Given the description of an element on the screen output the (x, y) to click on. 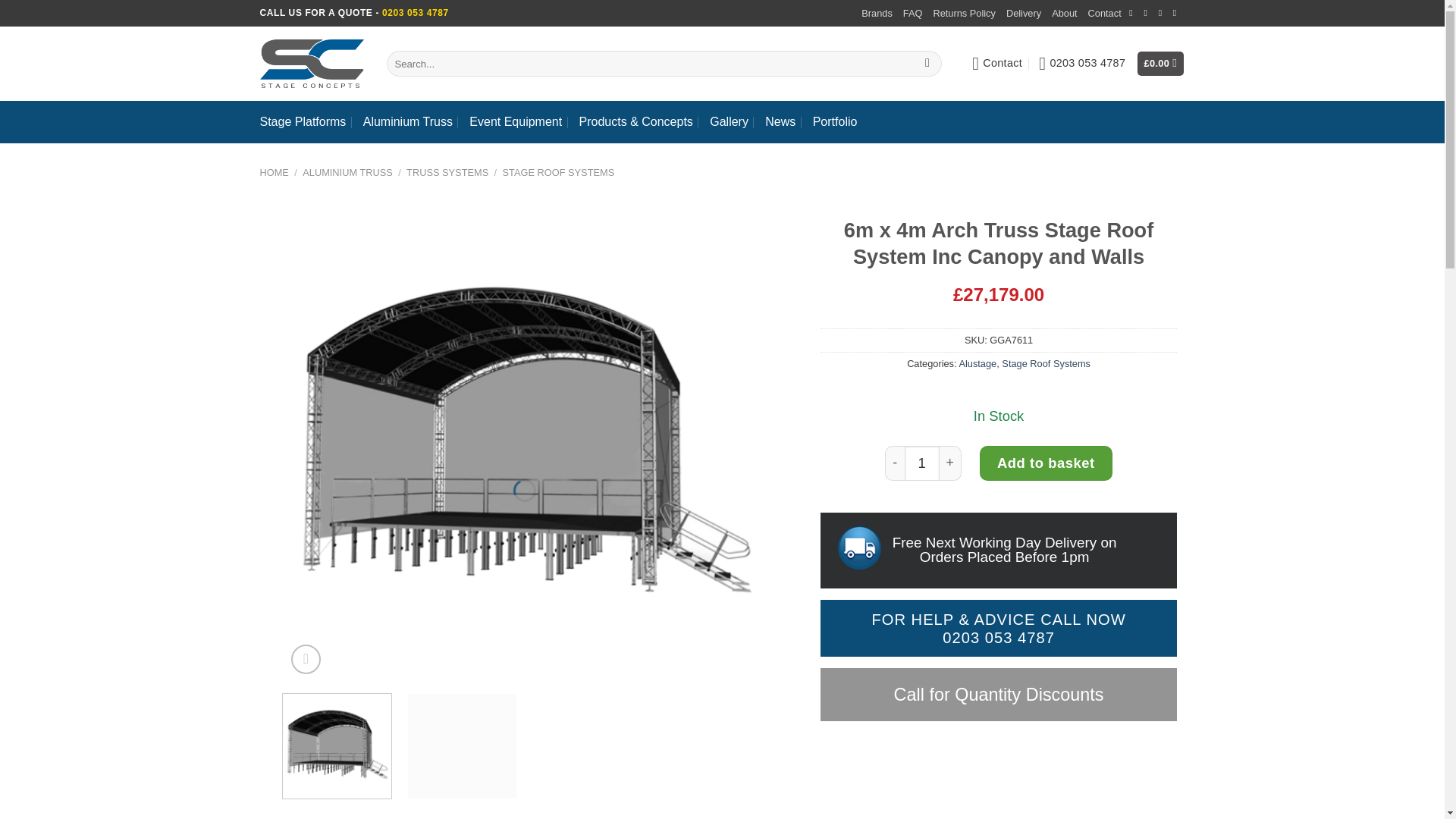
Follow on Facebook (1133, 12)
FAQ (912, 13)
Returns Policy (964, 13)
Brands (876, 13)
Call us (1162, 12)
Delivery (1023, 13)
0203 053 4787 (414, 12)
Stage Platforms (302, 121)
Aluminium Truss (407, 121)
- (894, 462)
0203 053 4787 (1082, 63)
Follow on LinkedIn (1177, 12)
About (1064, 13)
Search (927, 63)
Contact (1104, 13)
